Given the description of an element on the screen output the (x, y) to click on. 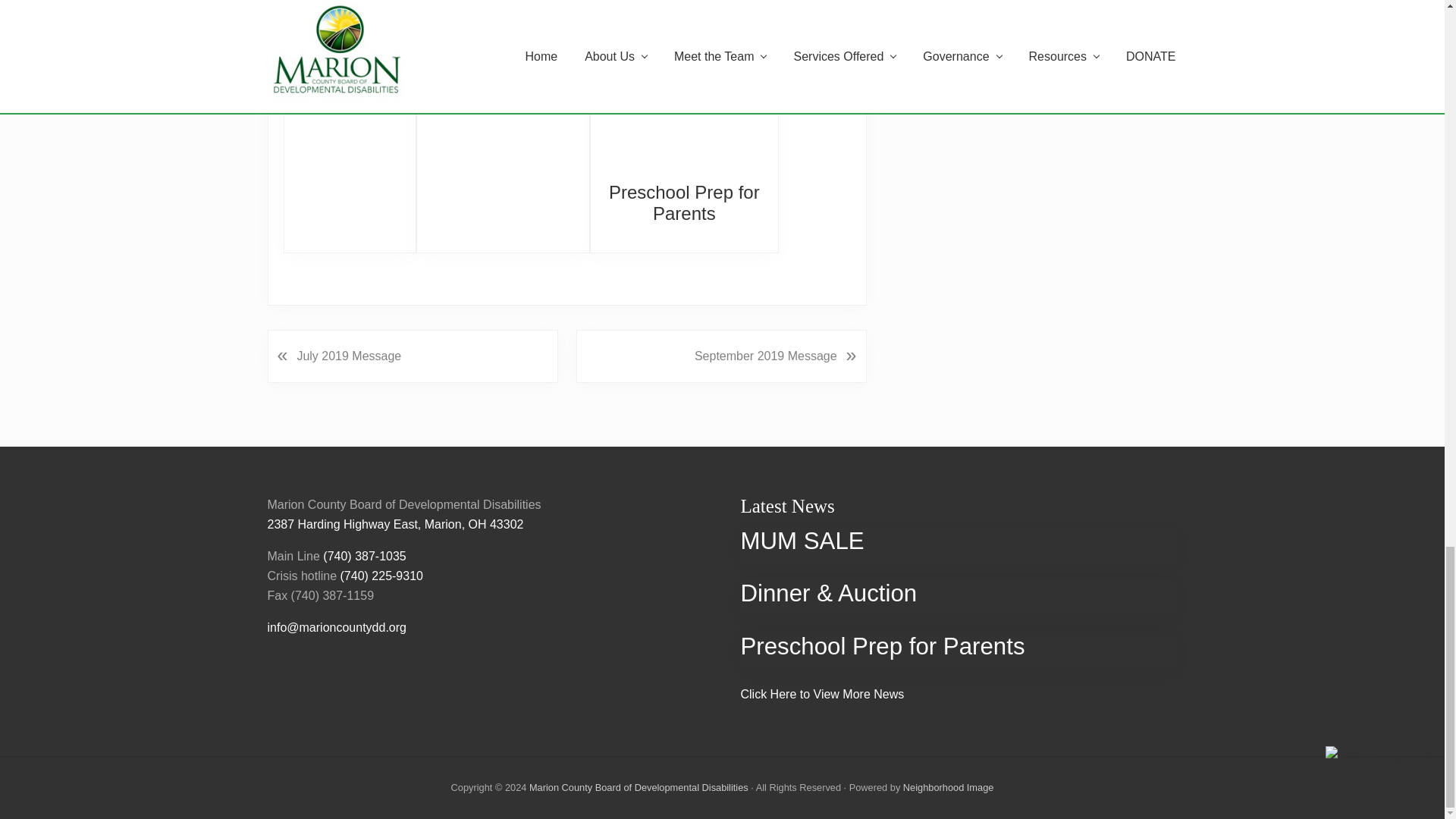
MUM SALE (349, 31)
Preschool Prep for Parents (683, 96)
MUM SALE (348, 61)
Preschool Prep for Parents (684, 202)
